Given the description of an element on the screen output the (x, y) to click on. 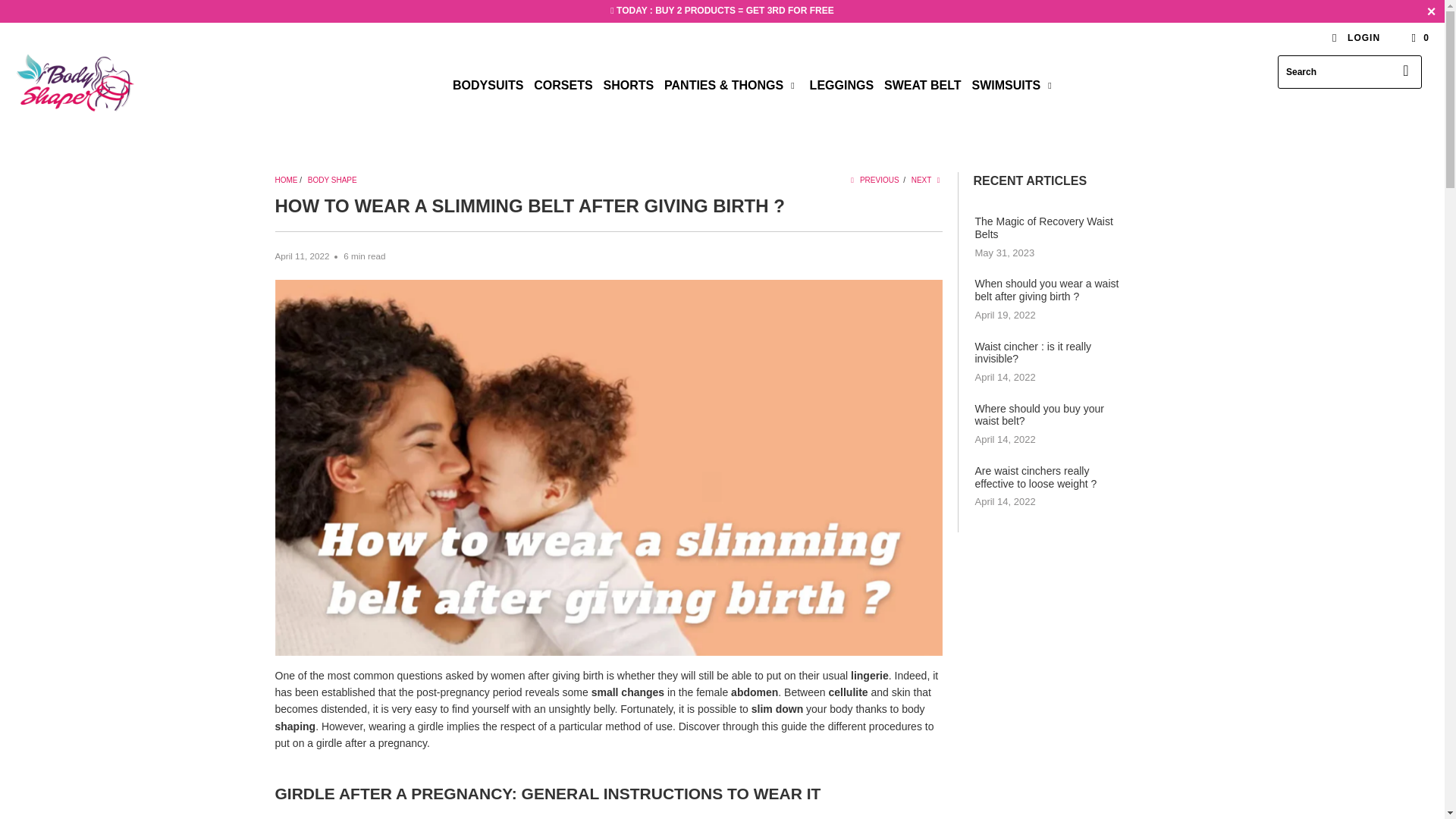
BODYSUITS (487, 85)
Body Shape (331, 180)
My Account  (1355, 37)
Body Shaper (286, 180)
Body Shaper (122, 84)
LOGIN (1355, 37)
